Given the description of an element on the screen output the (x, y) to click on. 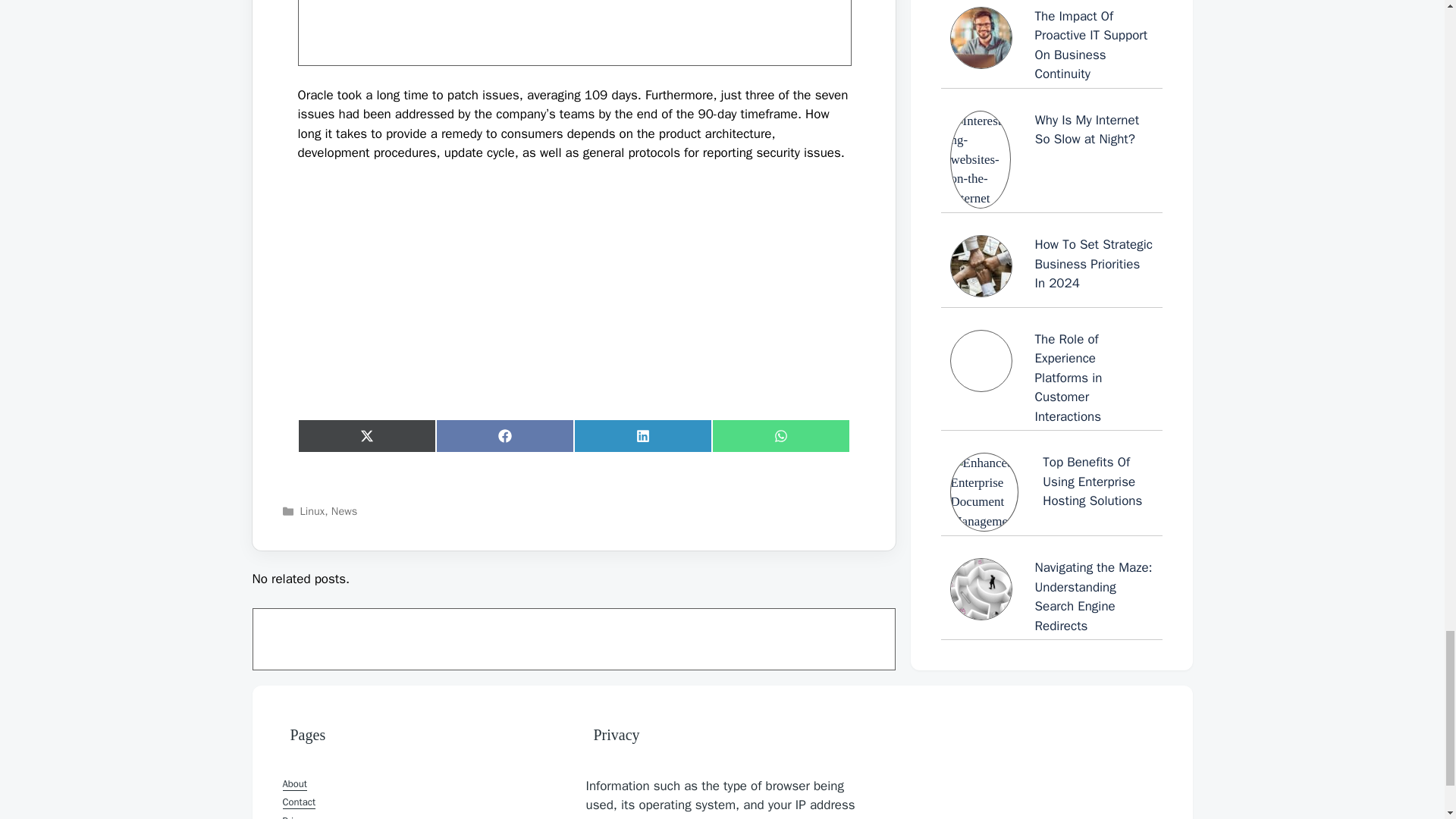
SHARE ON FACEBOOK (504, 435)
SHARE ON WHATSAPP (779, 435)
SHARE ON LINKEDIN (642, 435)
Linux (311, 510)
babe f f b b dee d b (573, 33)
News (343, 510)
